Given the description of an element on the screen output the (x, y) to click on. 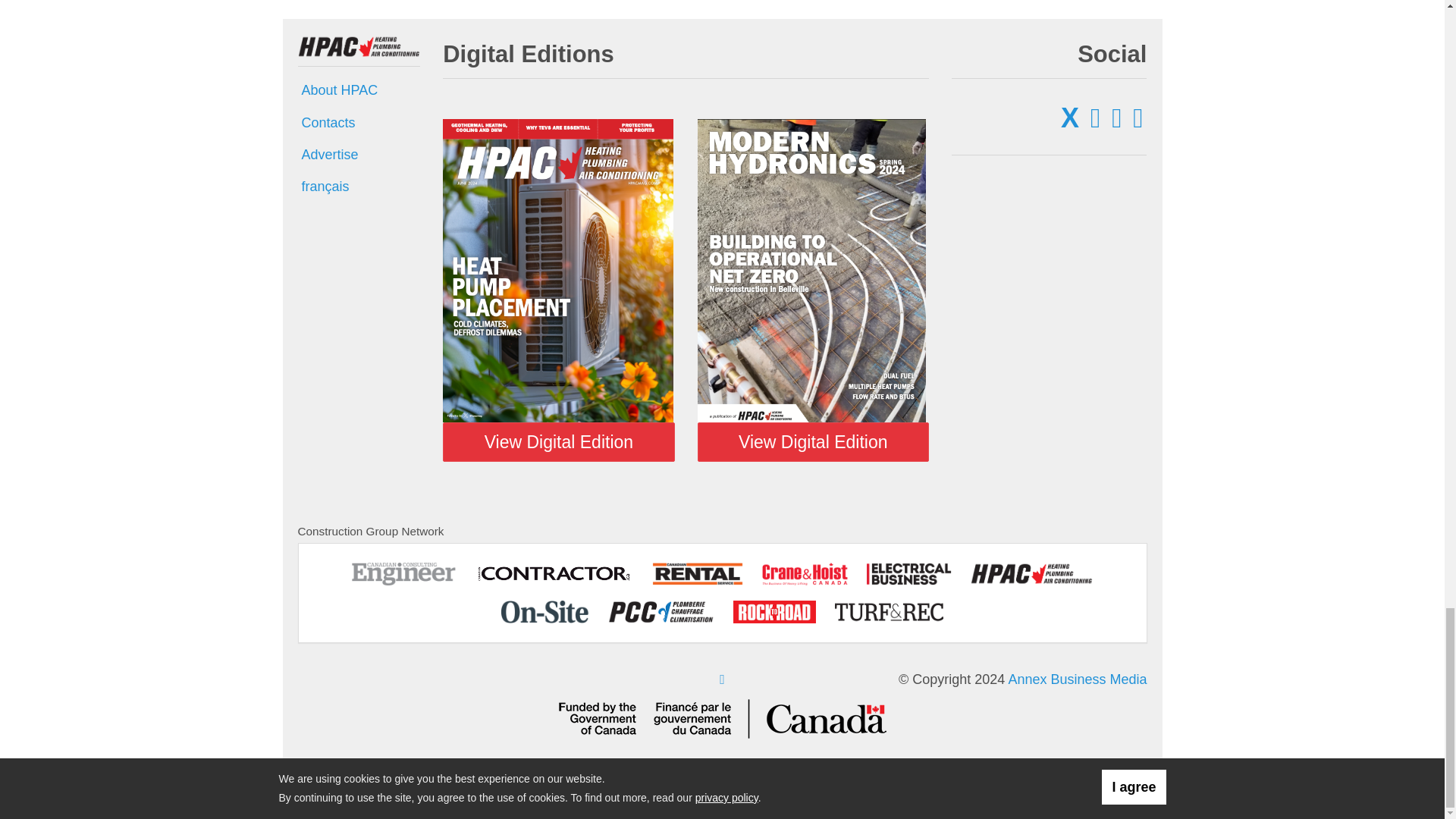
Annex Business Media (1077, 679)
HPAC Magazine (358, 46)
